Given the description of an element on the screen output the (x, y) to click on. 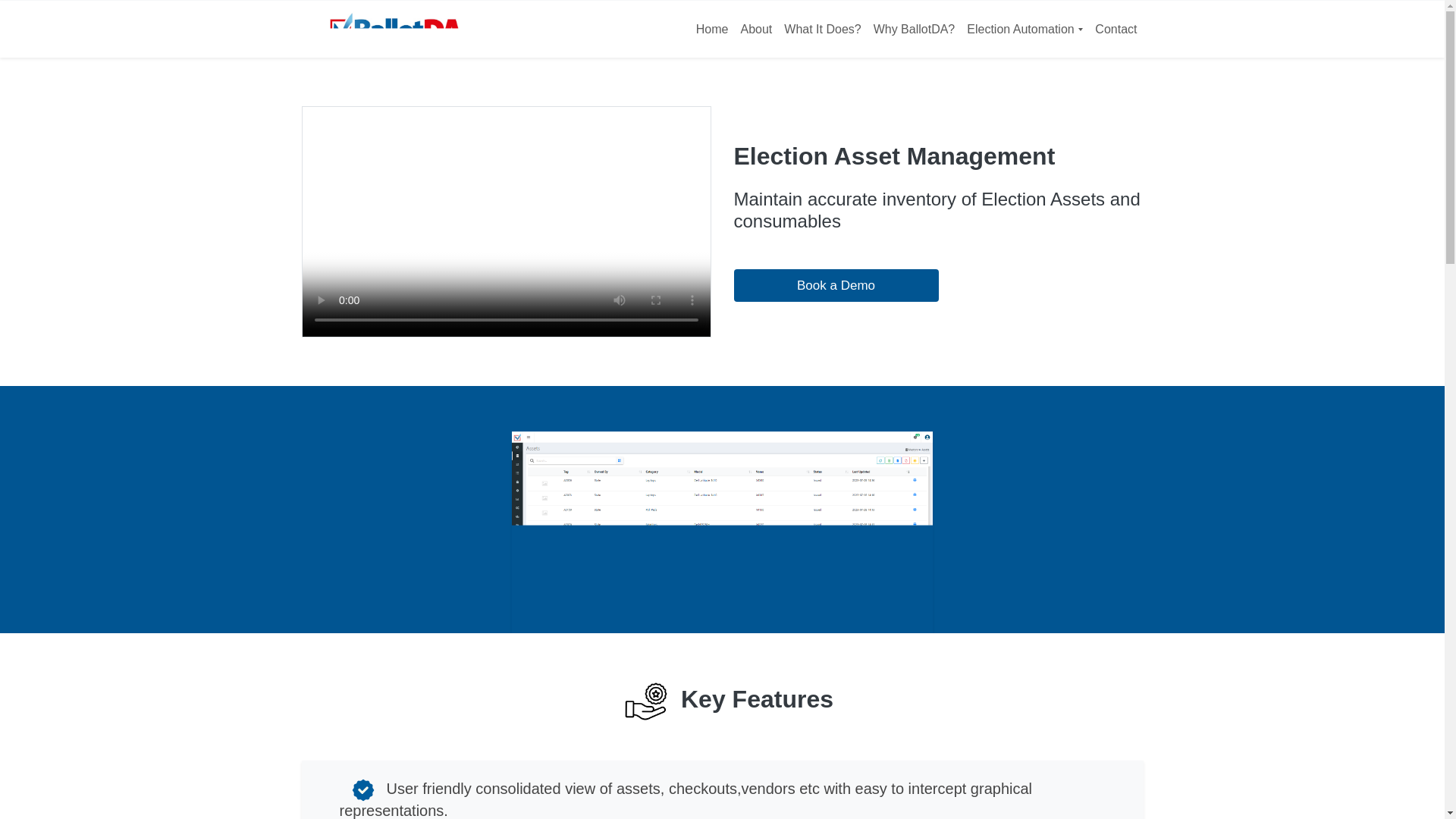
Contact (1115, 28)
Book a Demo (836, 285)
Why BallotDA? (913, 28)
Home (712, 28)
About (755, 28)
Election Automation (1024, 28)
What It Does? (821, 28)
